Given the description of an element on the screen output the (x, y) to click on. 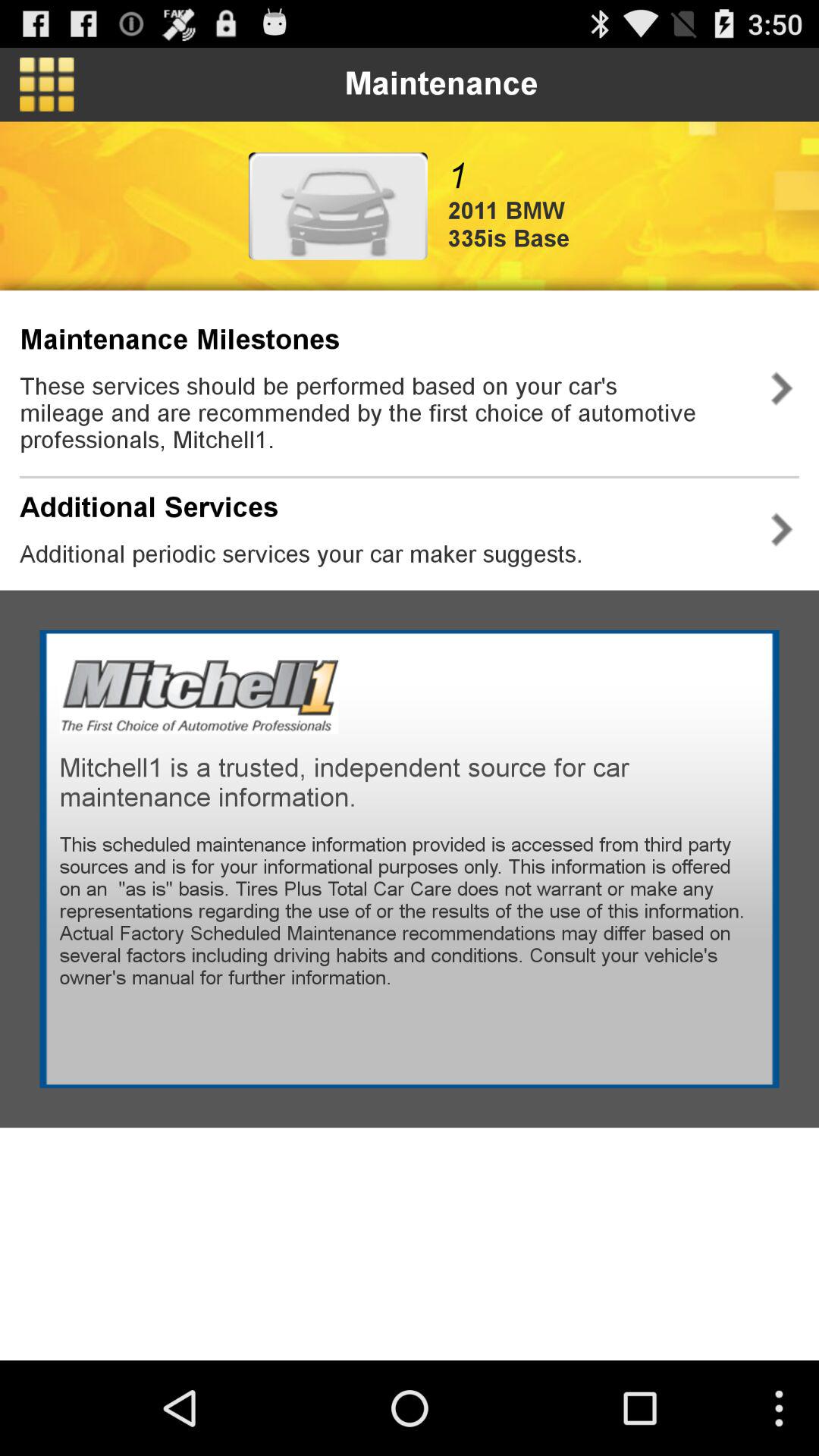
tap icon above the maintenance milestones item (337, 205)
